Given the description of an element on the screen output the (x, y) to click on. 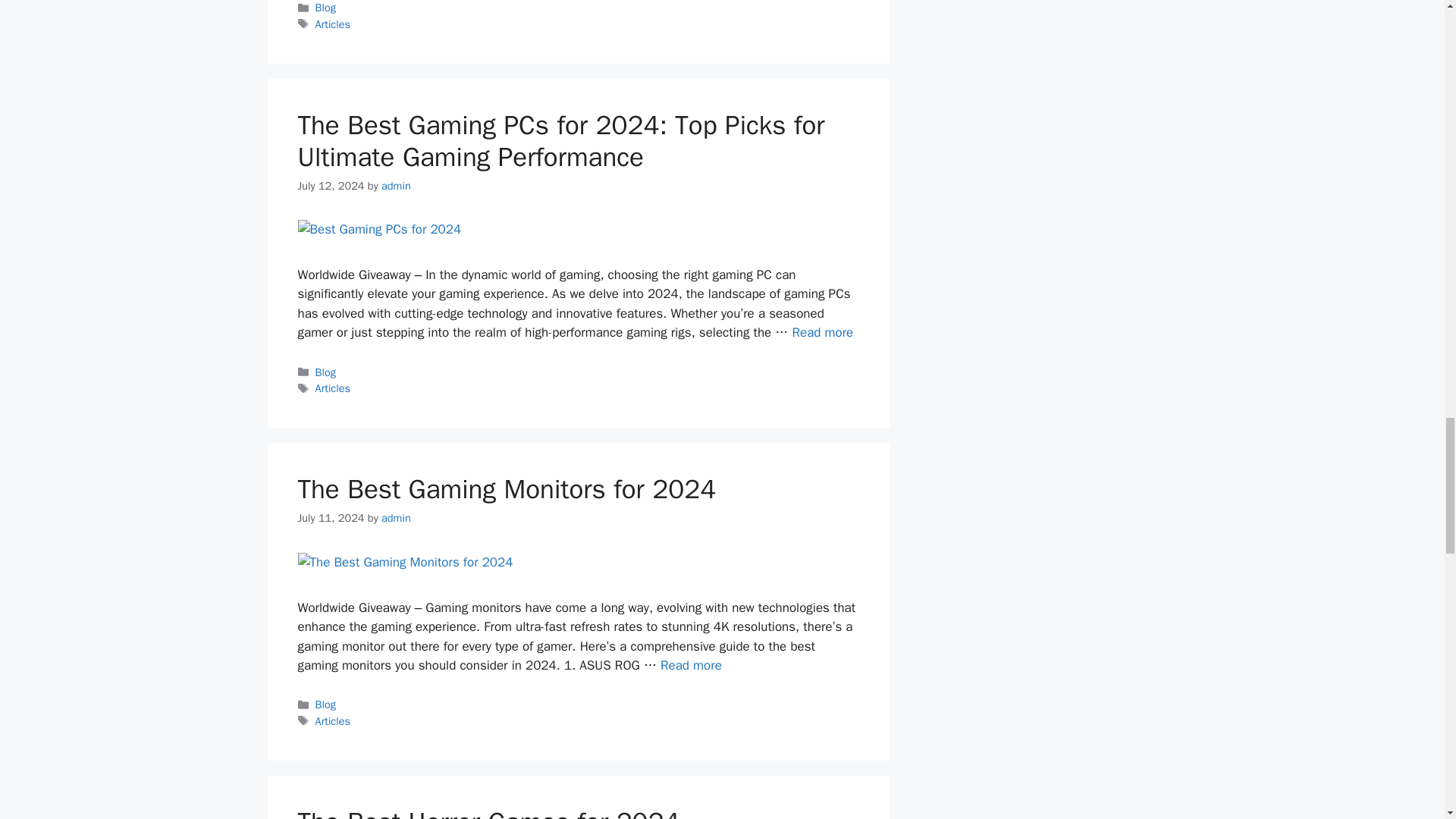
View all posts by admin (395, 185)
The Best Gaming Monitors for 2024 (691, 665)
View all posts by admin (395, 517)
Blog (325, 7)
